Given the description of an element on the screen output the (x, y) to click on. 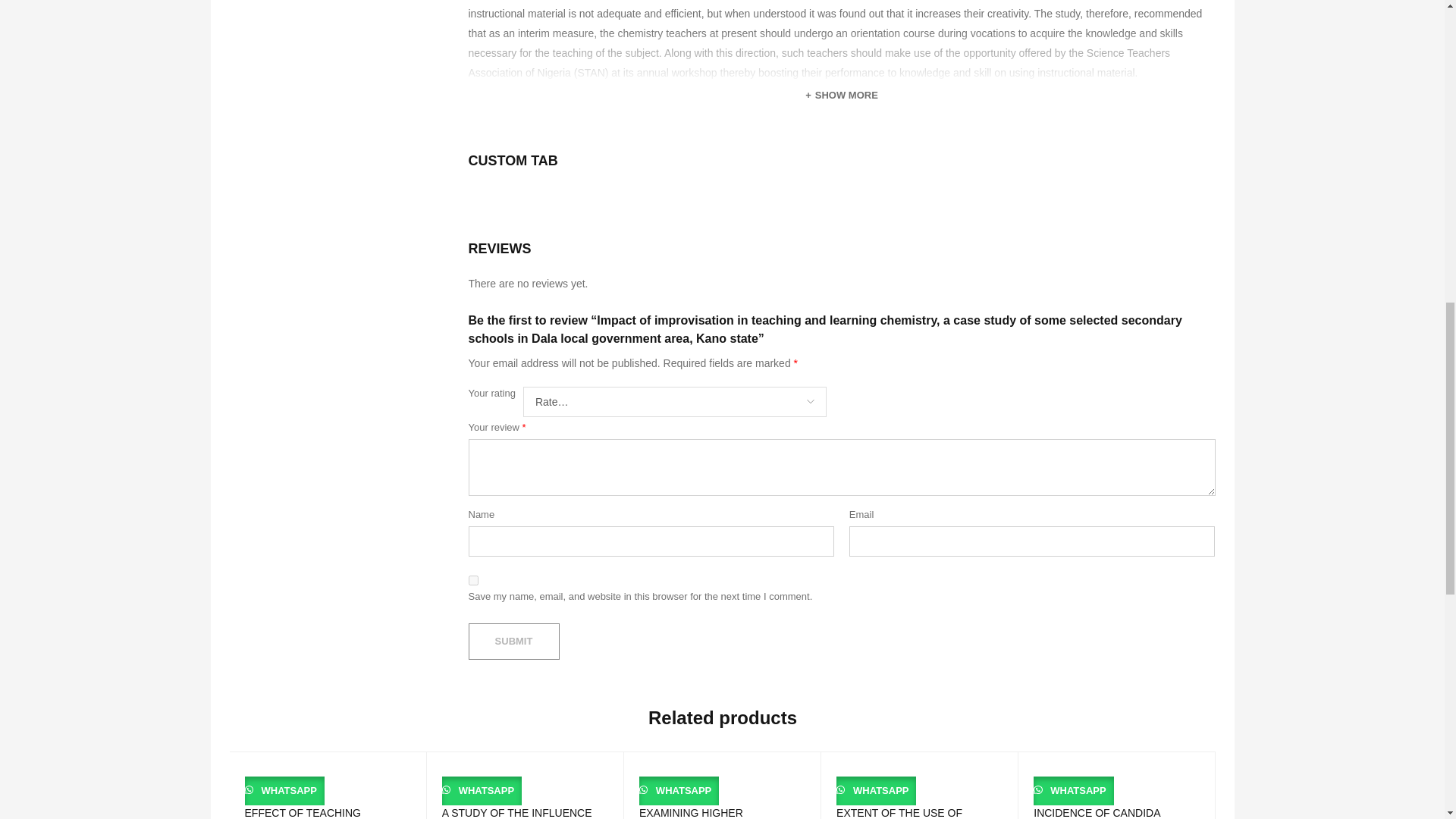
Submit (513, 641)
yes (473, 580)
